Given the description of an element on the screen output the (x, y) to click on. 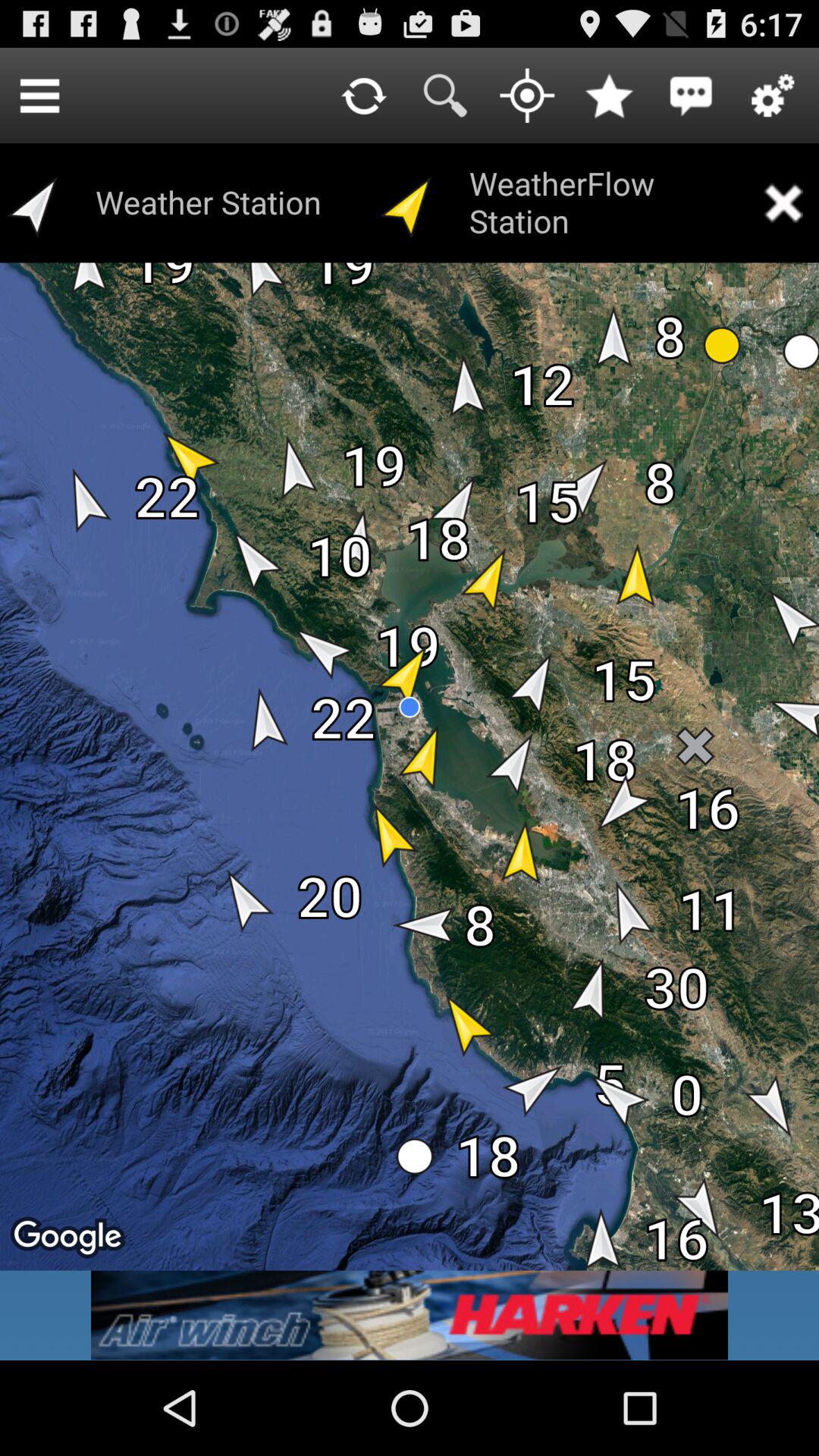
bring up menu options (39, 95)
